Given the description of an element on the screen output the (x, y) to click on. 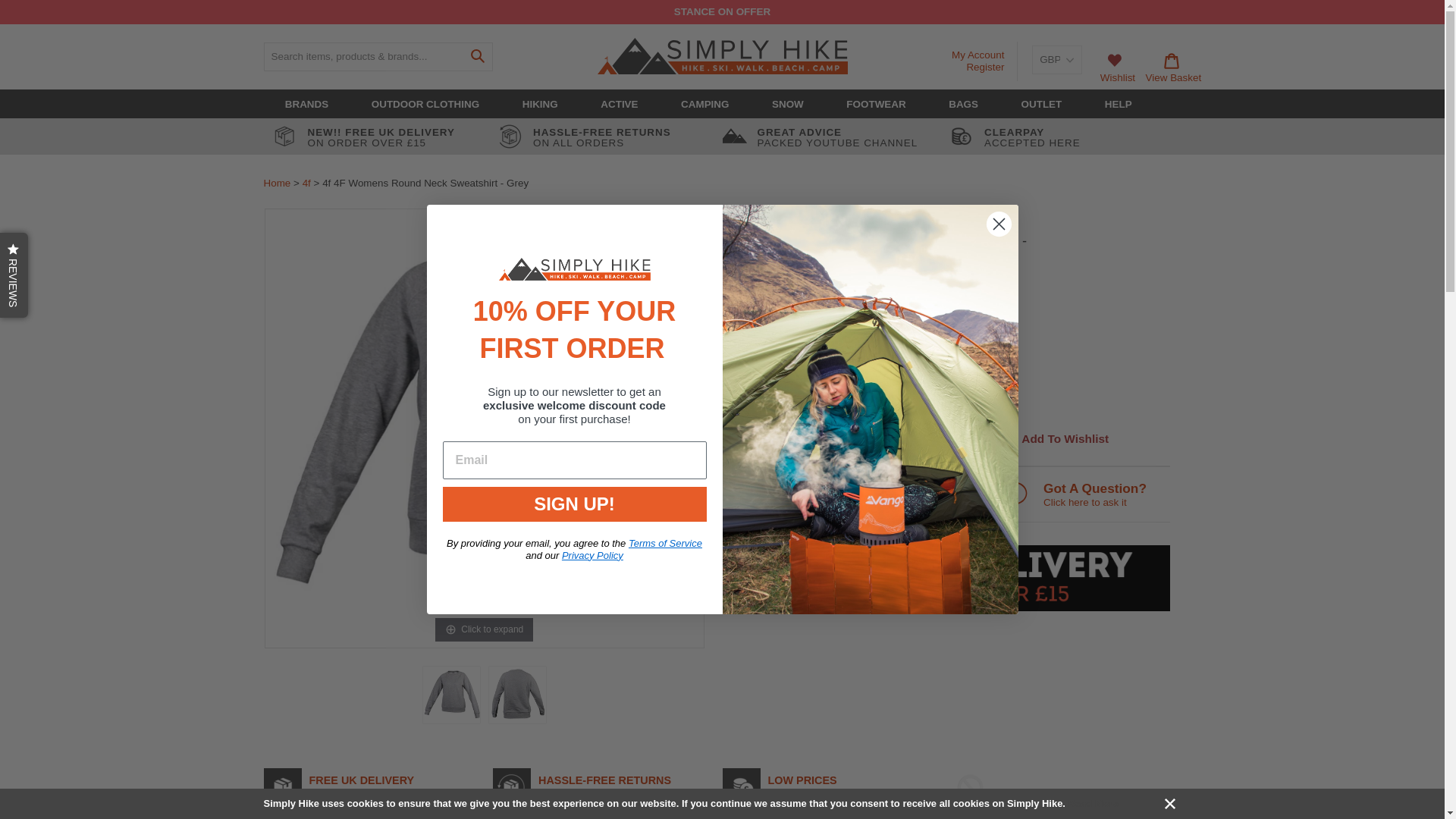
ACTIVE (618, 103)
STANCE ON OFFER (722, 11)
FOOTWEAR (875, 103)
My Account (978, 55)
CAMPING (704, 103)
OUTLET (1041, 103)
BRANDS (307, 103)
Register (985, 67)
4f-w-jacket-nosh4-bld350-27m (451, 694)
SNOW (787, 103)
BAGS (962, 103)
HIKING (540, 103)
OUTDOOR CLOTHING (425, 103)
4f-w-jacket-nosh4-bld350-27m (517, 694)
HELP (1118, 103)
